Given the description of an element on the screen output the (x, y) to click on. 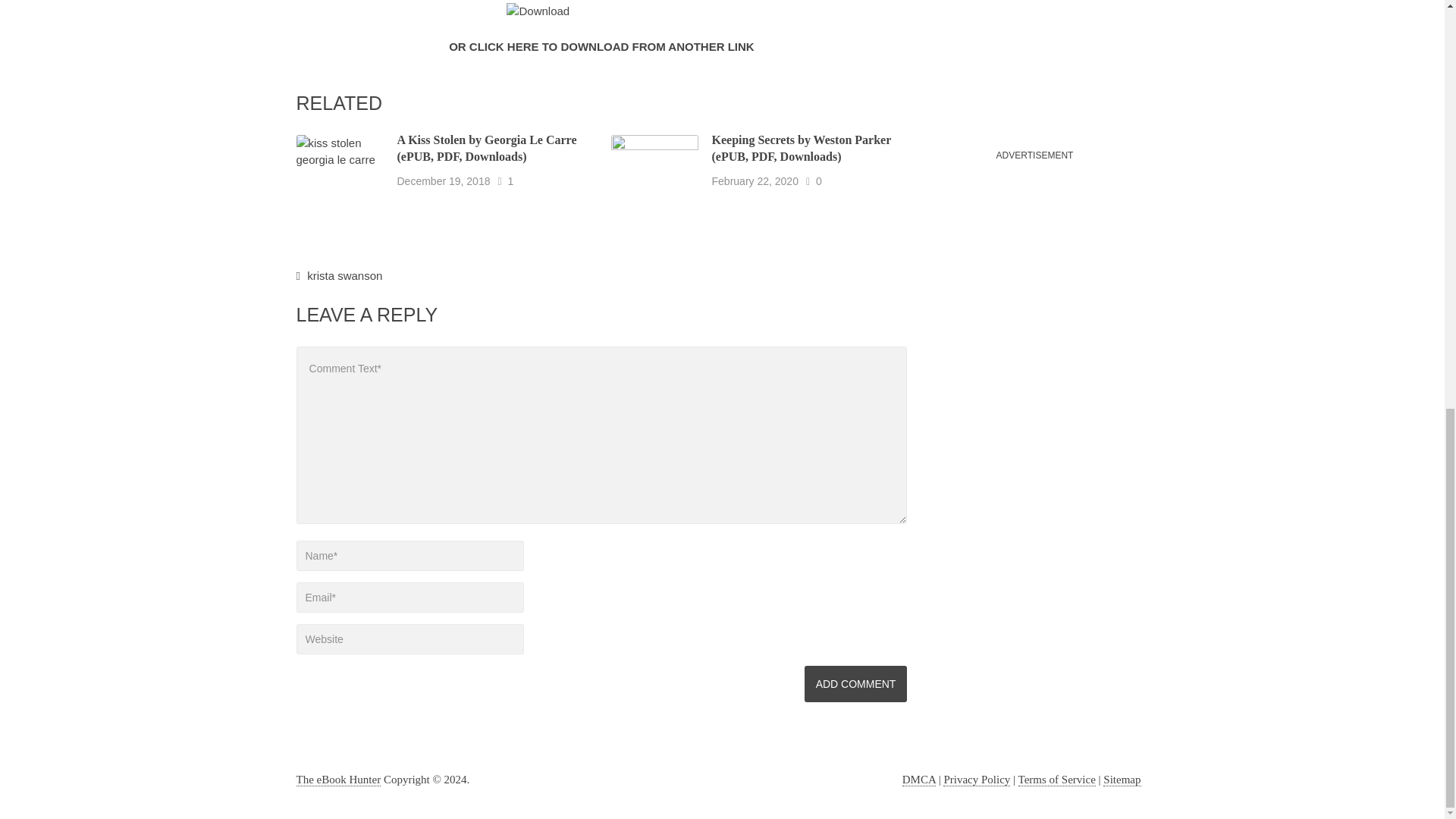
0 (818, 181)
krista swanson (344, 274)
OR CLICK HERE TO DOWNLOAD FROM ANOTHER LINK (601, 46)
Add Comment (856, 683)
1 (509, 181)
Add Comment (856, 683)
